Given the description of an element on the screen output the (x, y) to click on. 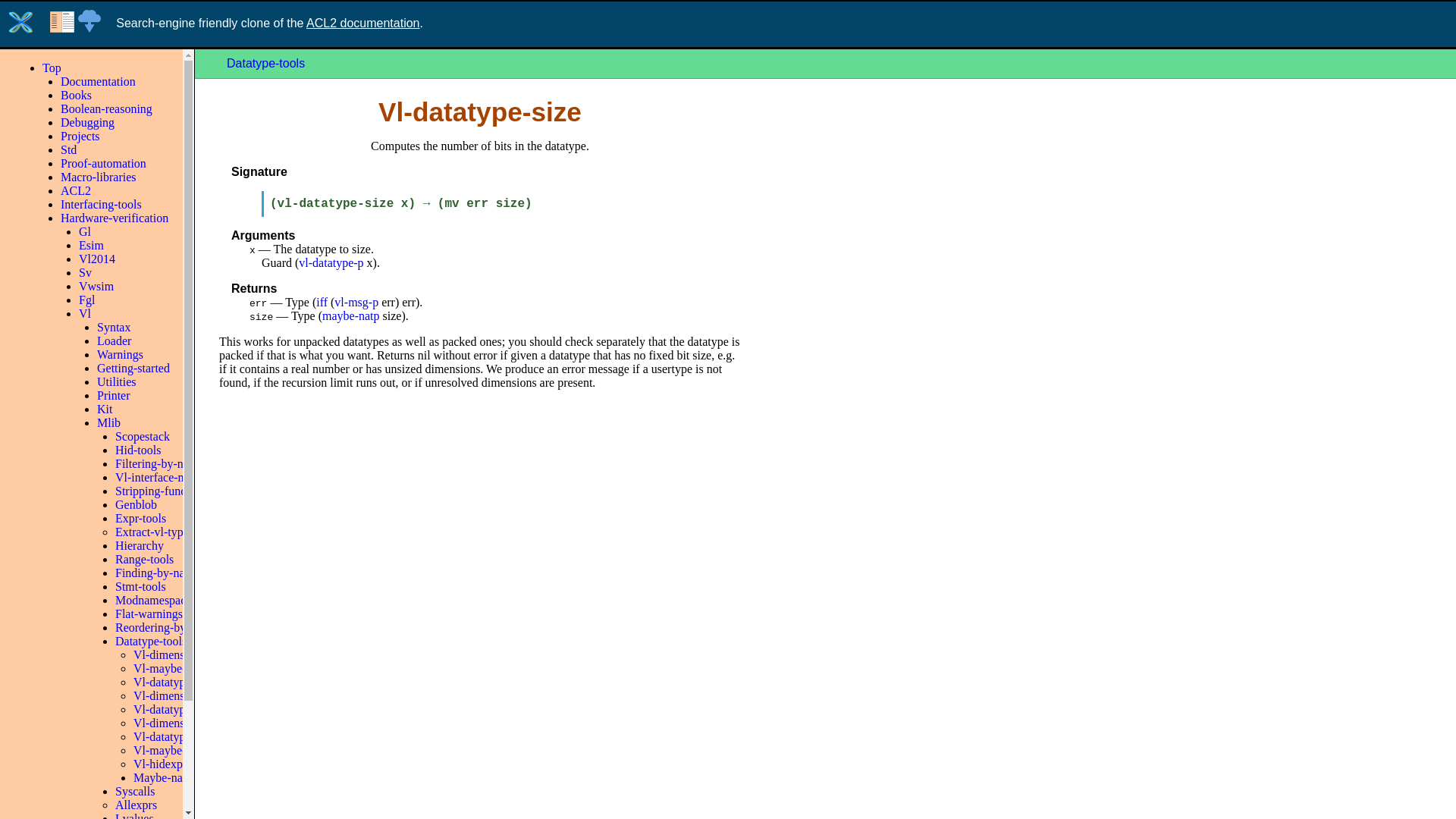
ACL2 documentation (362, 22)
